Given the description of an element on the screen output the (x, y) to click on. 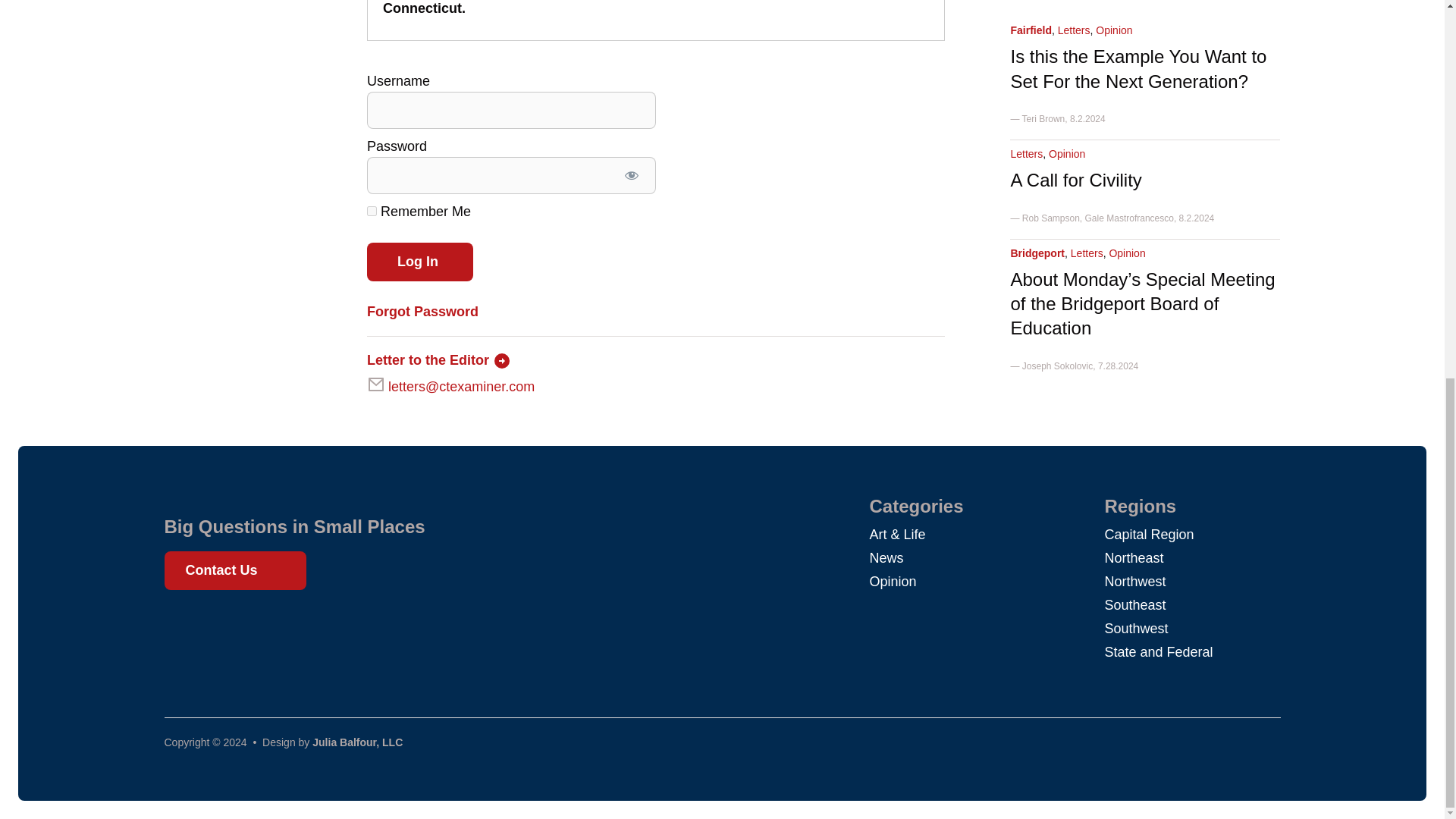
forever (371, 211)
Log In (419, 261)
instagram (238, 625)
twitter (210, 625)
facebook (183, 625)
